Given the description of an element on the screen output the (x, y) to click on. 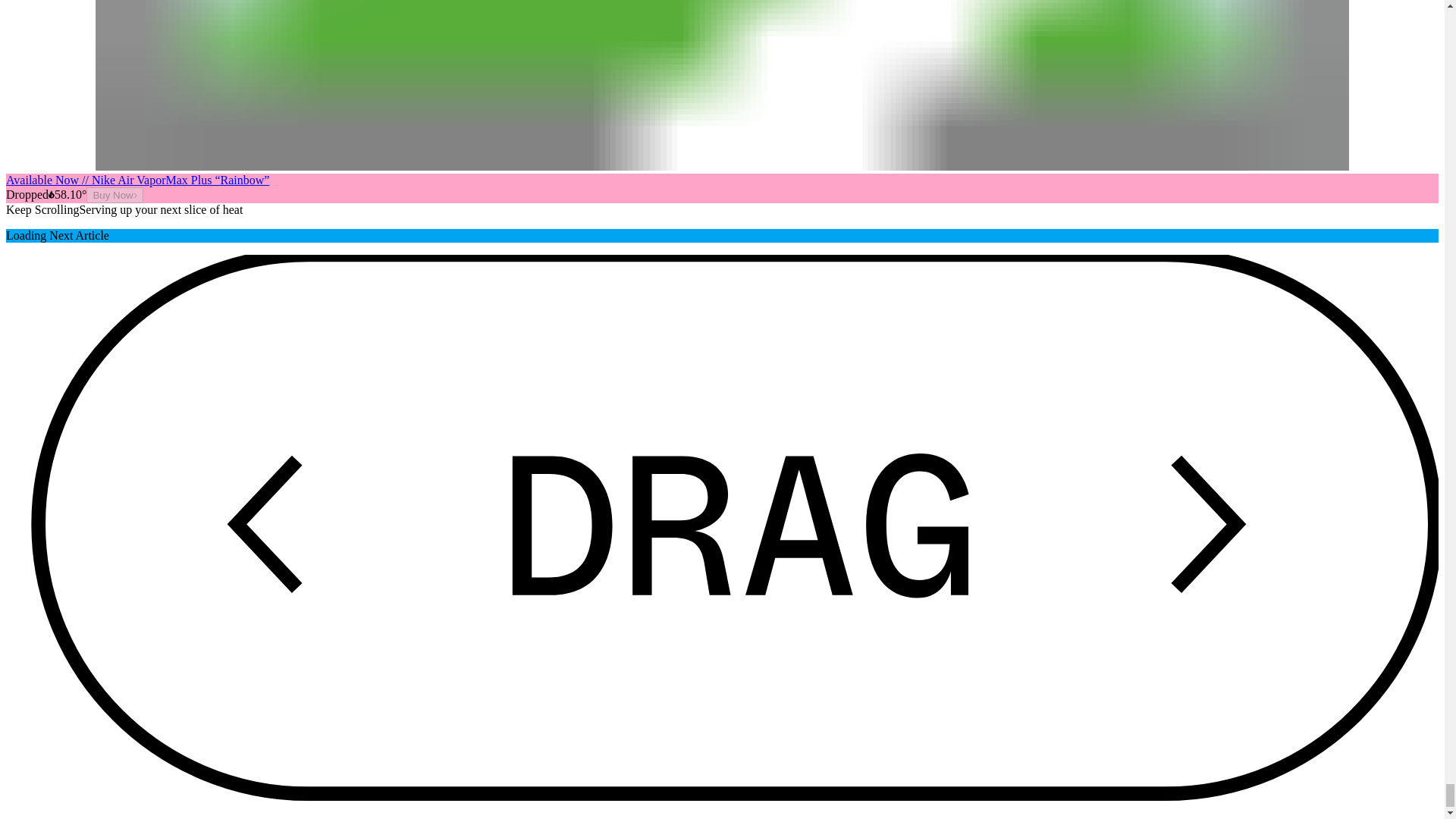
Buy Now (113, 195)
